Given the description of an element on the screen output the (x, y) to click on. 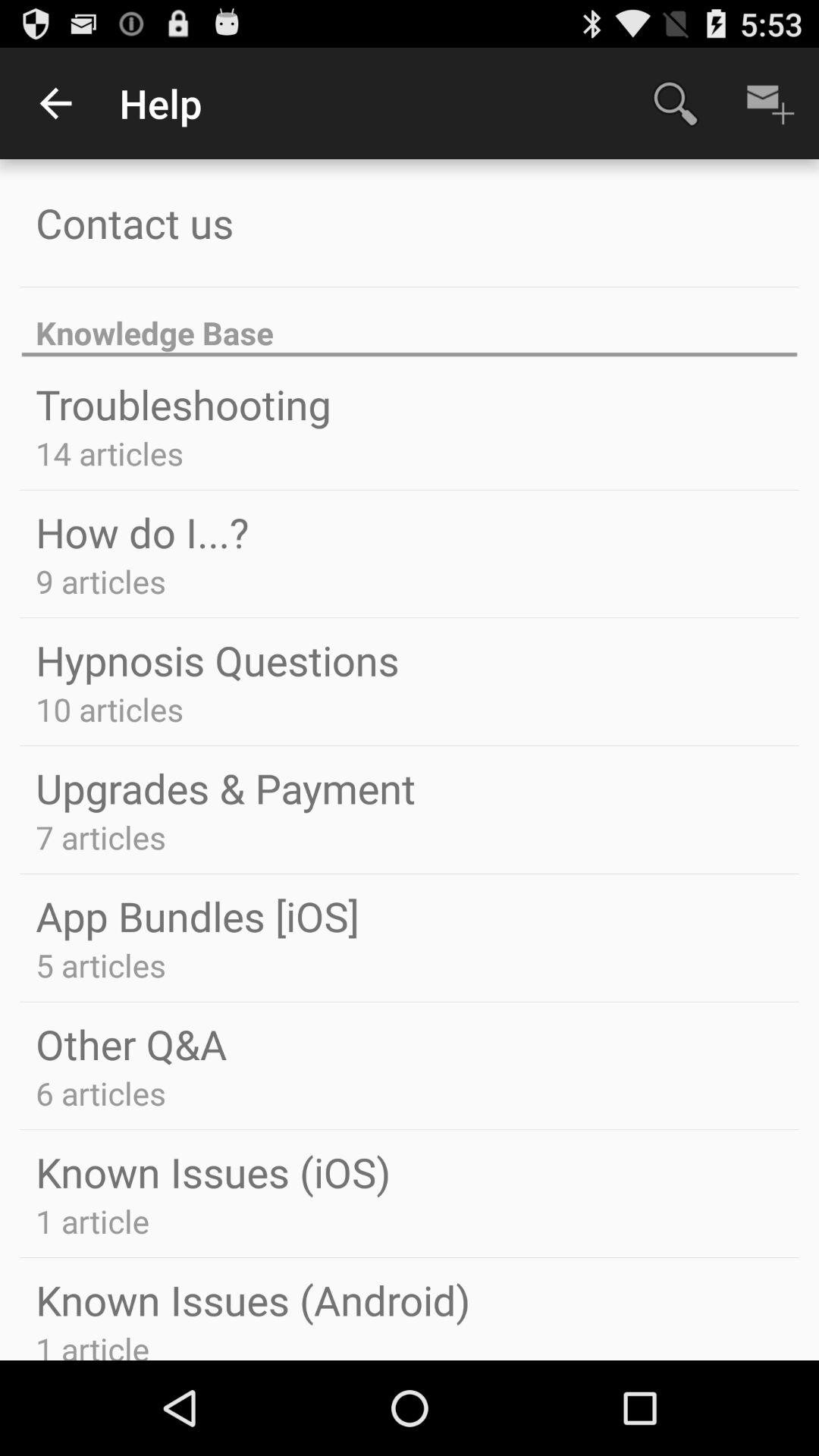
flip until the hypnosis questions app (217, 659)
